Given the description of an element on the screen output the (x, y) to click on. 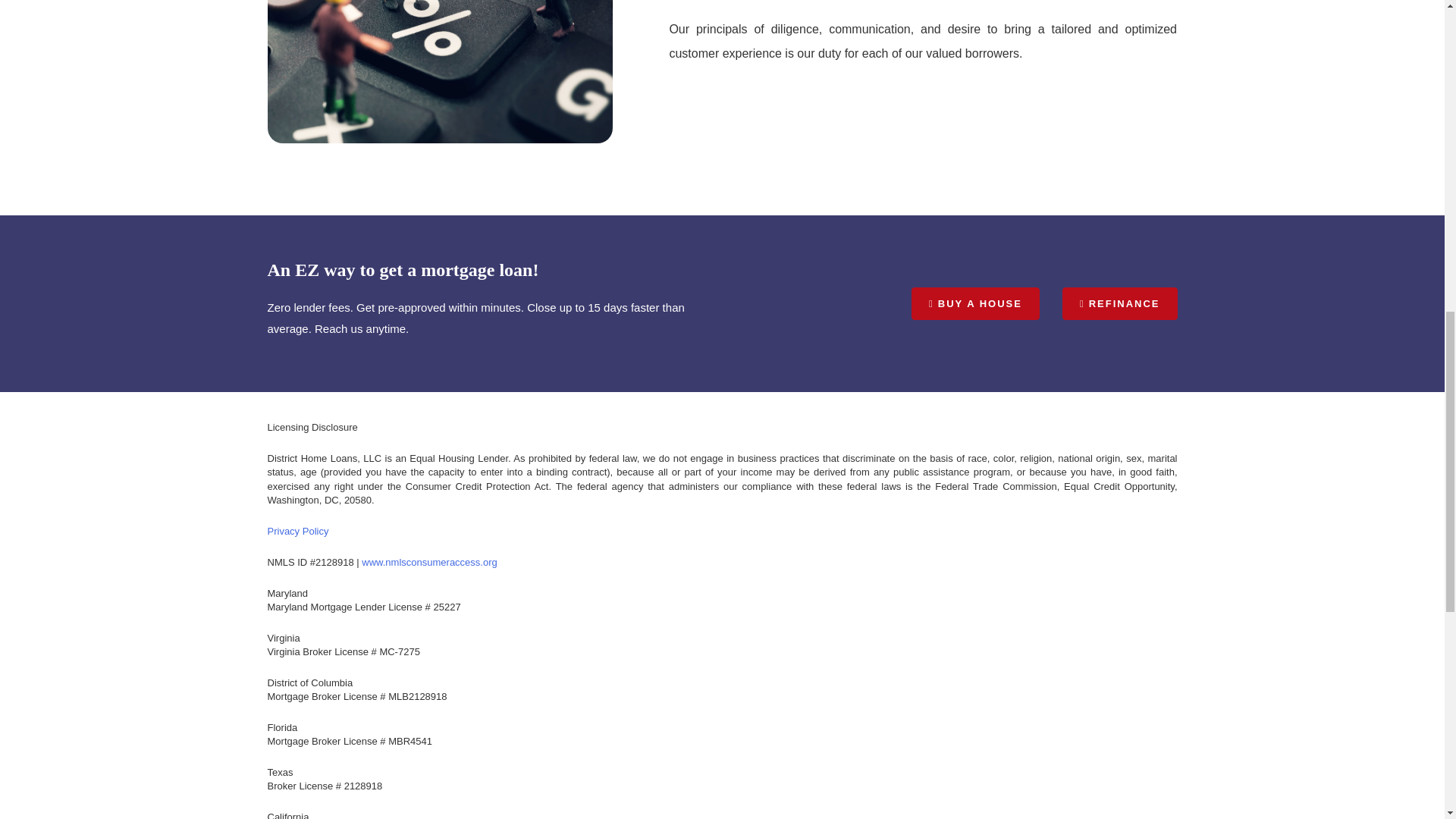
BUY A HOUSE (975, 303)
REFINANCE (1119, 303)
www.nmlsconsumeraccess.org (428, 562)
Privacy Policy (297, 531)
